Given the description of an element on the screen output the (x, y) to click on. 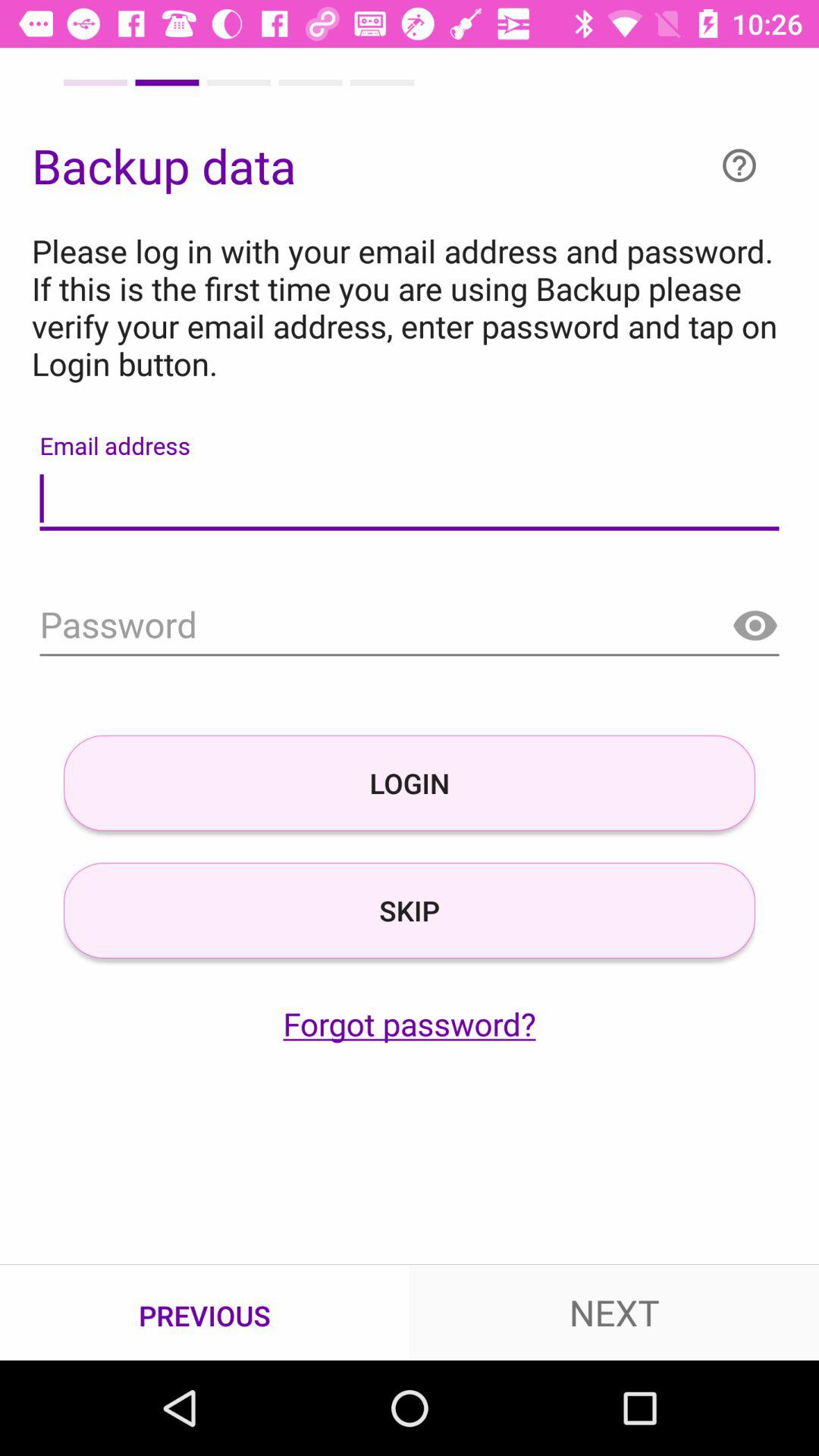
show password (755, 626)
